Given the description of an element on the screen output the (x, y) to click on. 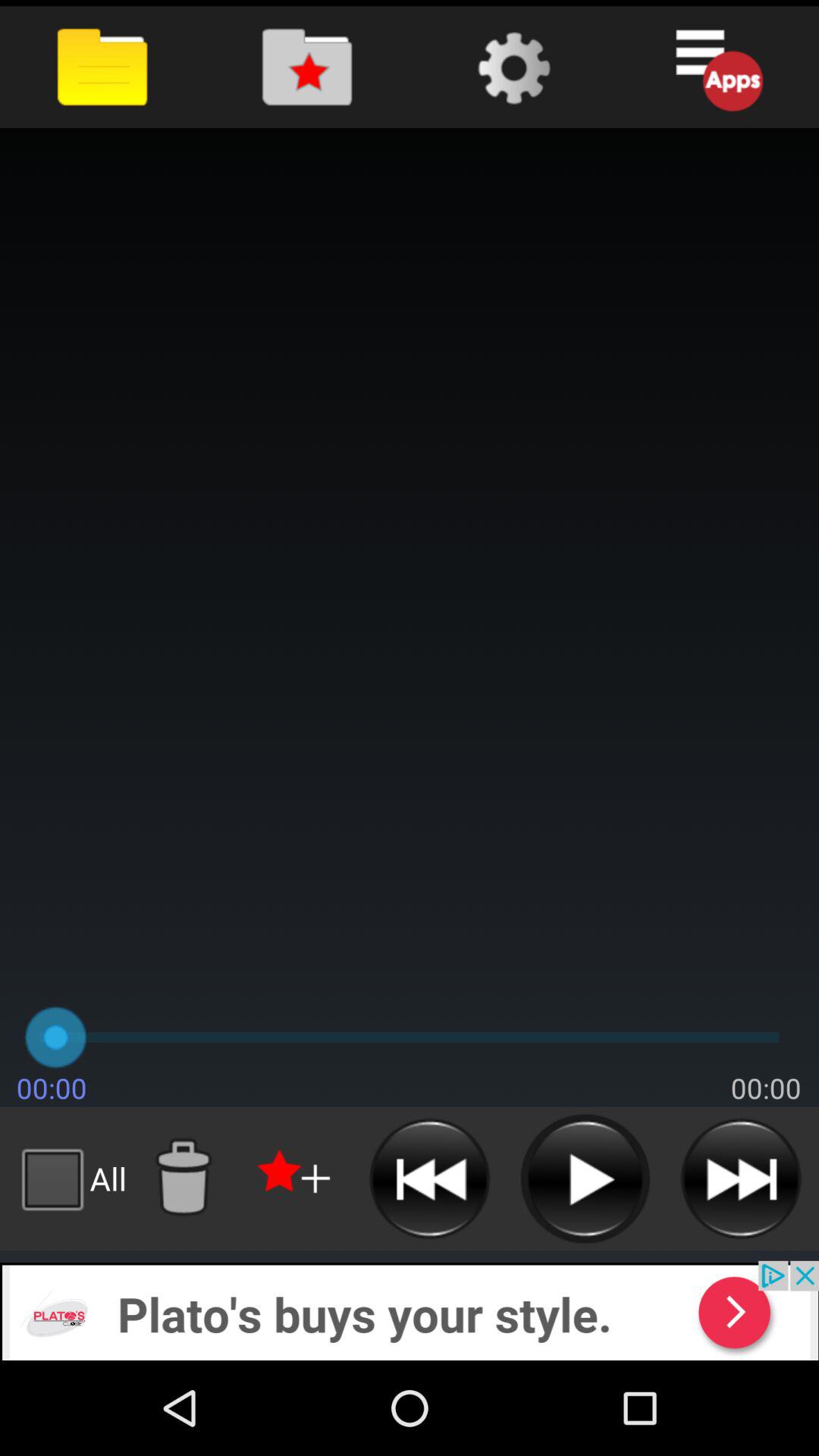
show settings (511, 66)
